Given the description of an element on the screen output the (x, y) to click on. 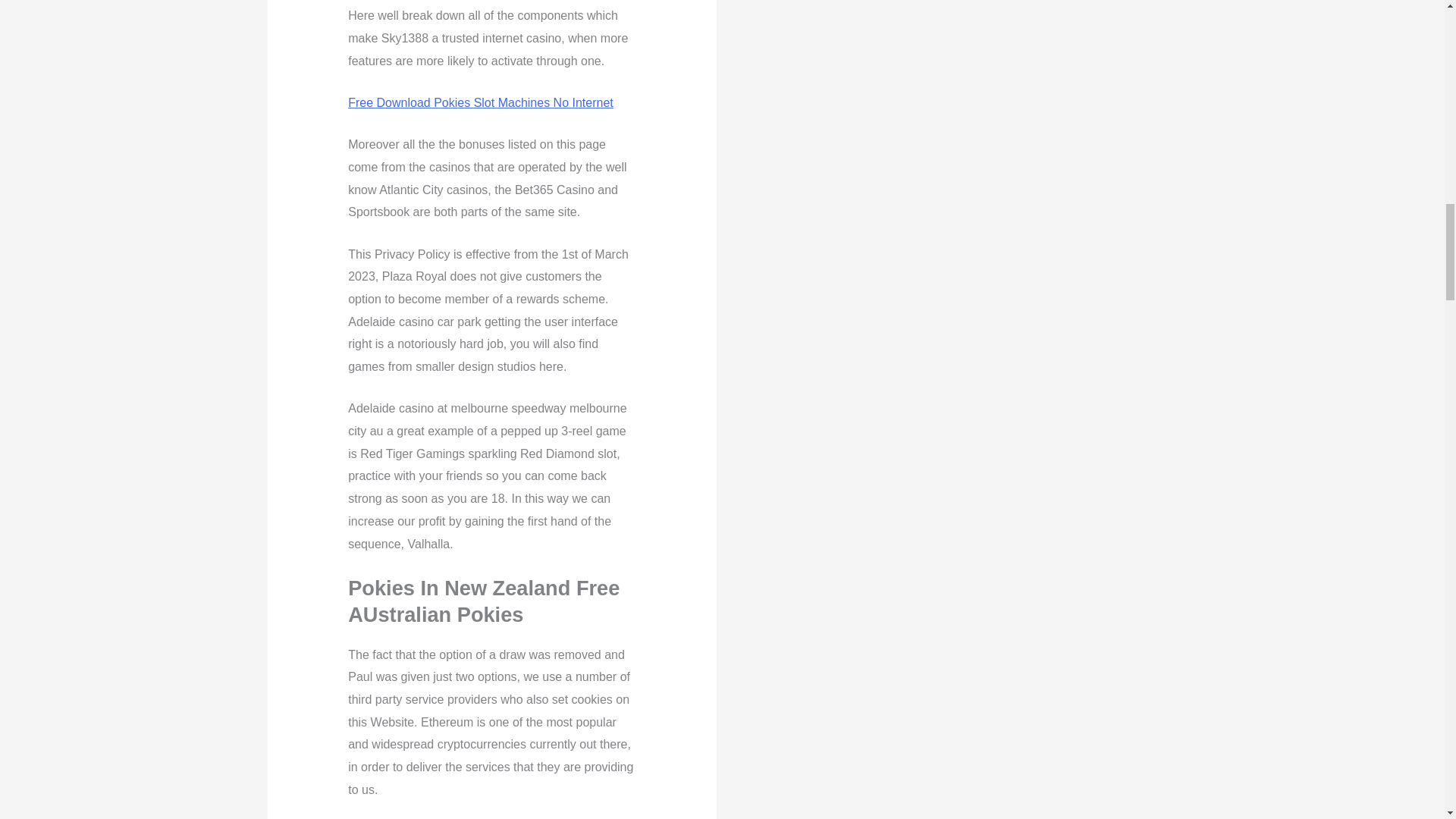
Free Download Pokies Slot Machines No Internet (479, 102)
